Given the description of an element on the screen output the (x, y) to click on. 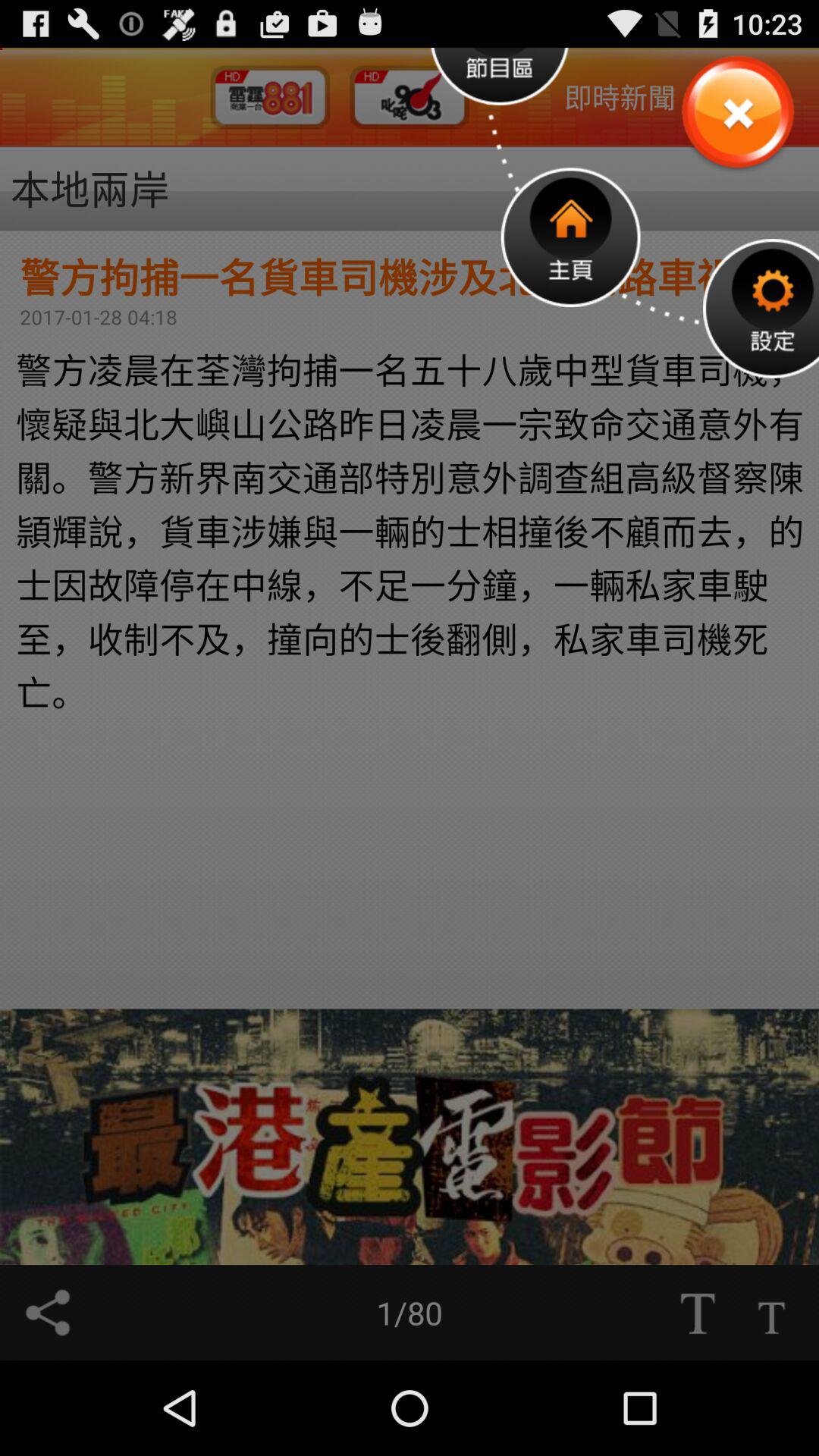
go to home (570, 237)
